Given the description of an element on the screen output the (x, y) to click on. 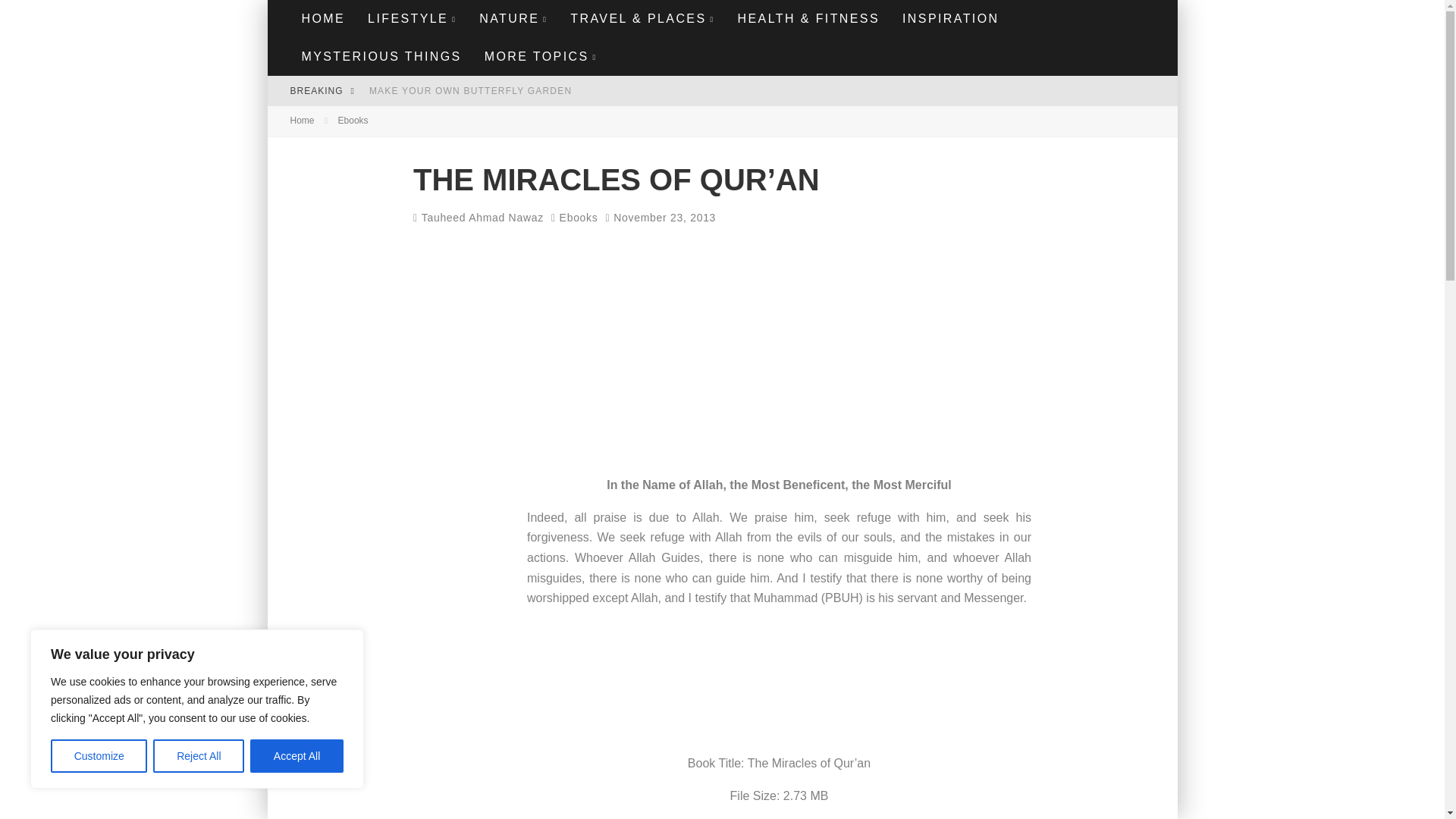
Advertisement (778, 363)
HOME (322, 18)
LIFESTYLE (411, 18)
Customize (98, 756)
Advertisement (778, 683)
NATURE (513, 18)
Make Your Own Butterfly Garden (470, 90)
Accept All (296, 756)
Reject All (198, 756)
